Given the description of an element on the screen output the (x, y) to click on. 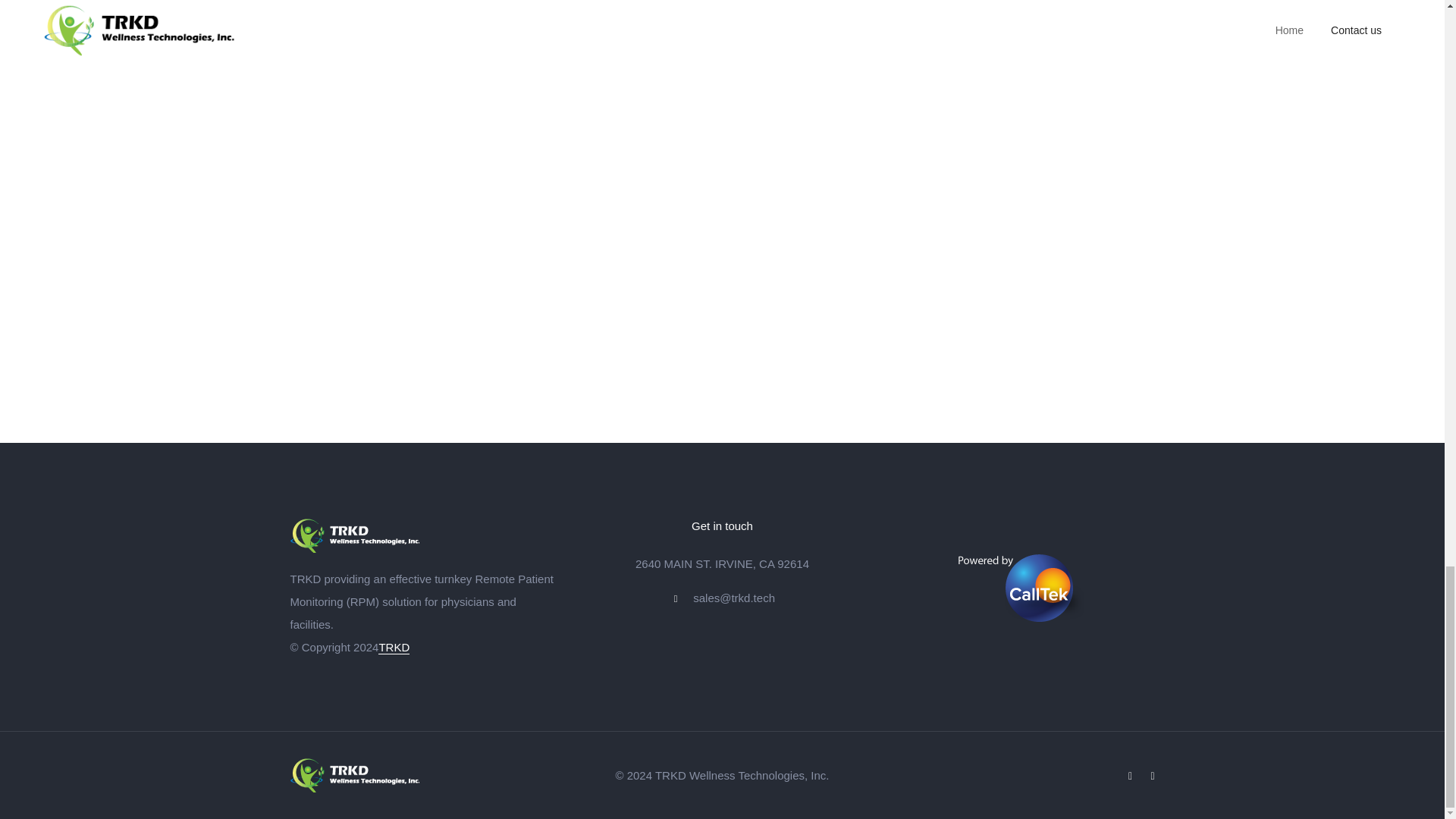
Wellness Technologies, Inc. (757, 775)
TRKD (393, 646)
